Given the description of an element on the screen output the (x, y) to click on. 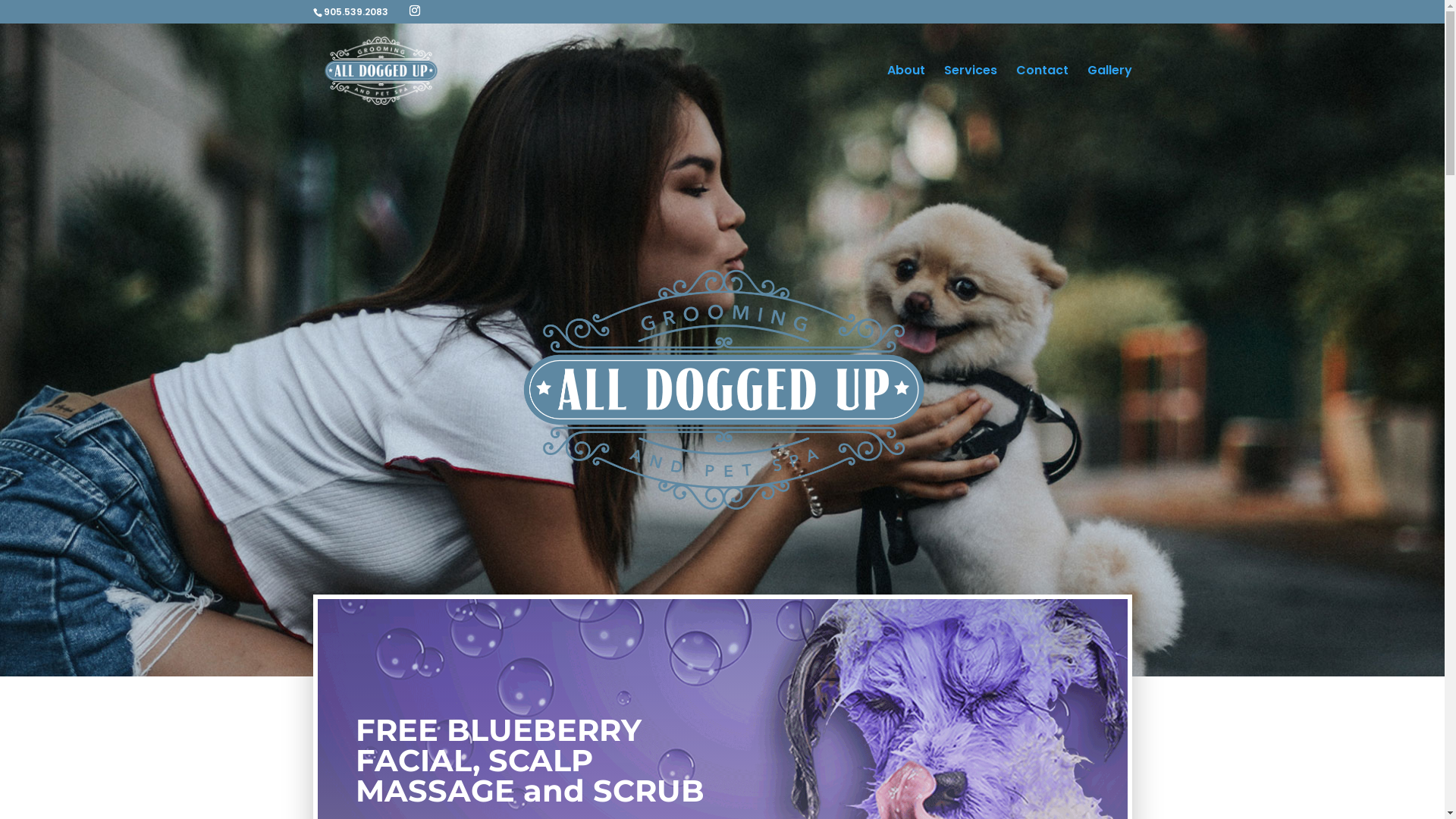
About Element type: text (906, 91)
Services Element type: text (969, 91)
Contact Element type: text (1042, 91)
Gallery Element type: text (1109, 91)
